Given the description of an element on the screen output the (x, y) to click on. 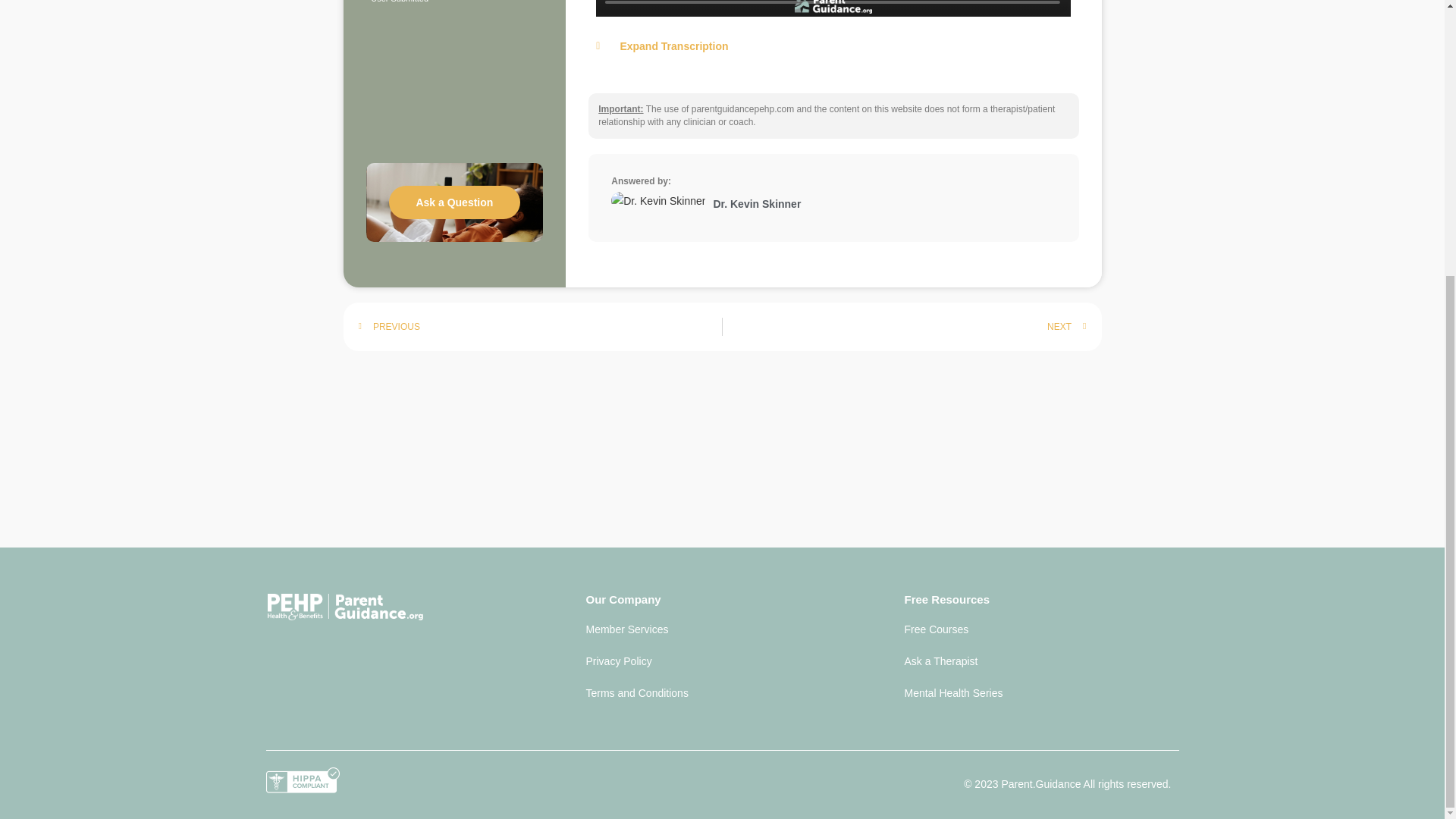
Privacy Policy (722, 660)
Member Services (722, 628)
Ask a Therapist (1040, 660)
NEXT (904, 326)
Mental Health Series (1040, 692)
PREVIOUS (540, 326)
Ask a Question (453, 202)
Expand Transcription (832, 46)
Free Courses (1040, 628)
Terms and Conditions (722, 692)
